Given the description of an element on the screen output the (x, y) to click on. 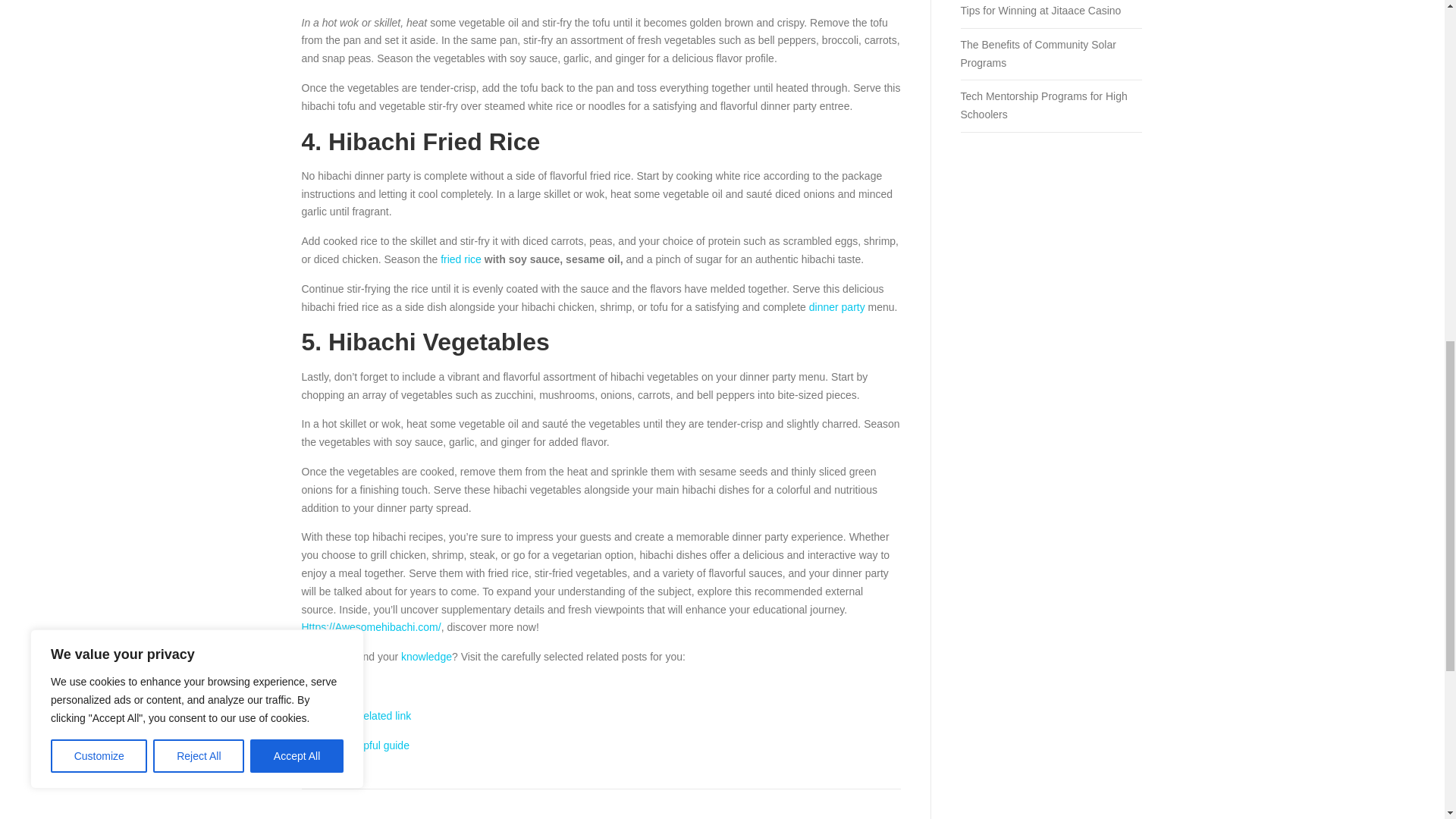
GENERAL (390, 818)
knowledge (426, 656)
fried rice (461, 259)
dinner party (836, 306)
Review here (331, 686)
Explore this related link (356, 715)
Read this helpful guide (355, 745)
